Given the description of an element on the screen output the (x, y) to click on. 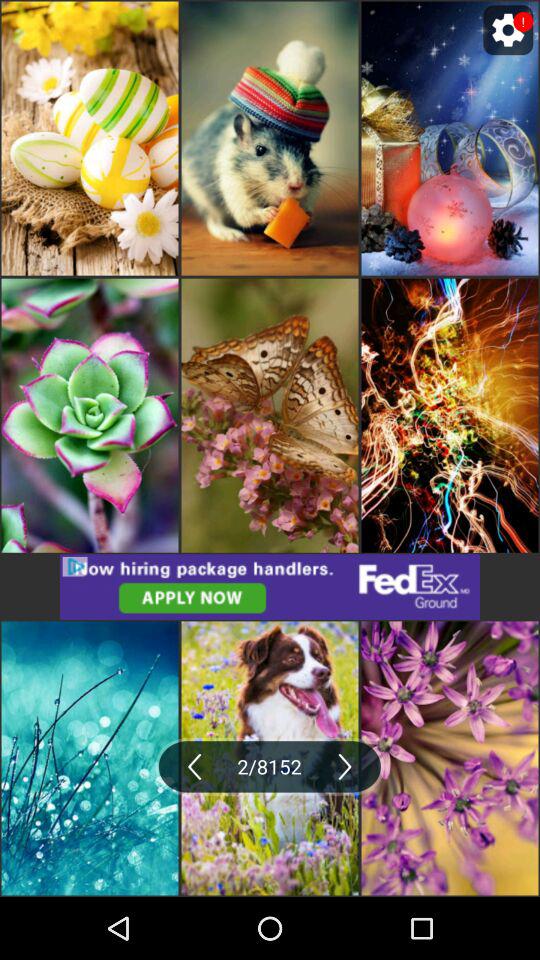
open advertisement (270, 586)
